Given the description of an element on the screen output the (x, y) to click on. 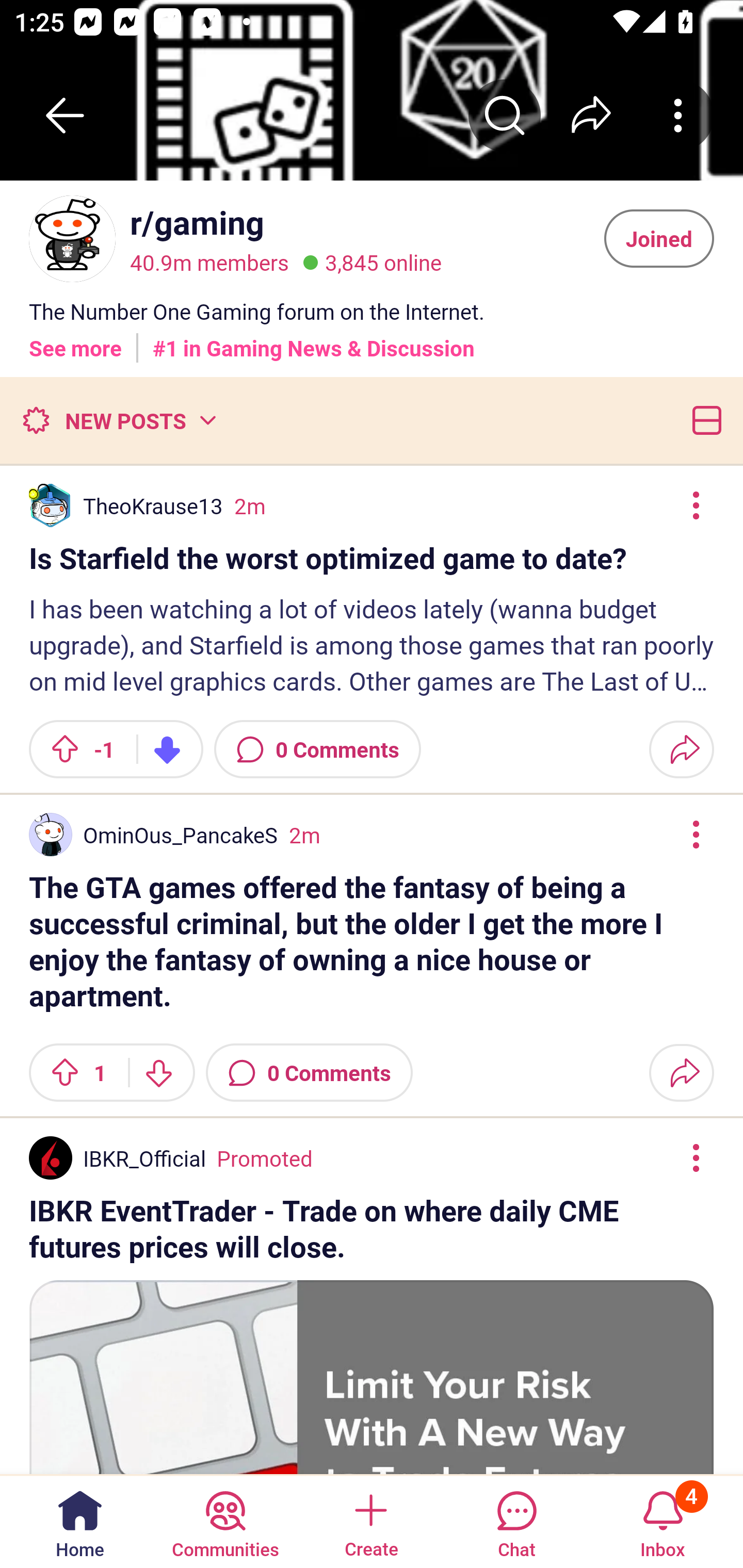
Back (64, 115)
Search r/﻿gaming (504, 115)
Share r/﻿gaming (591, 115)
More community actions (677, 115)
New posts NEW POSTS (118, 420)
Card (703, 420)
Home (80, 1520)
Communities (225, 1520)
Create a post Create (370, 1520)
Chat (516, 1520)
Inbox, has 4 notifications 4 Inbox (662, 1520)
